Given the description of an element on the screen output the (x, y) to click on. 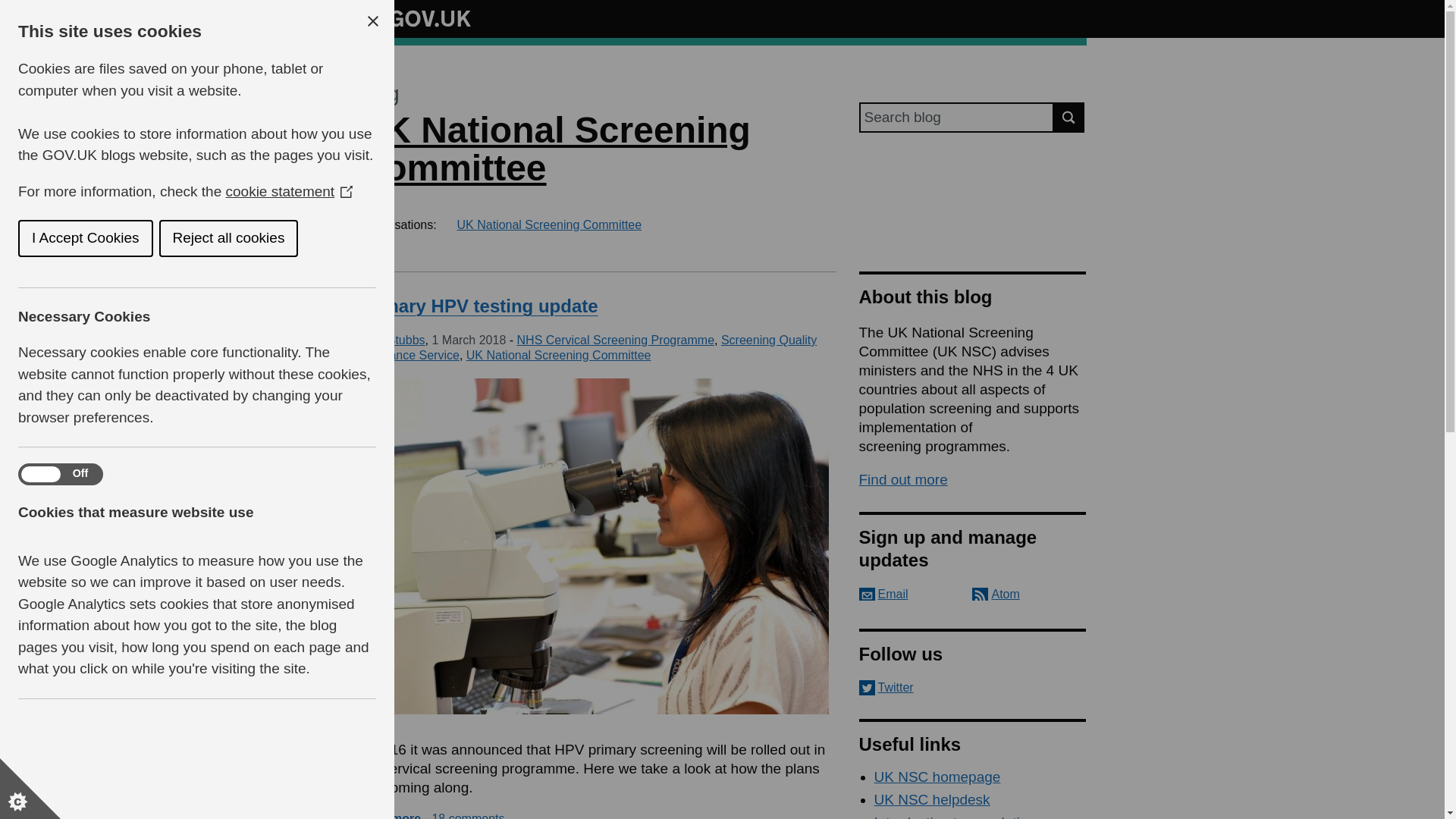
Ruth Stubbs (391, 339)
Posts by Ruth Stubbs (391, 339)
Search (1069, 117)
UK NSC helpdesk (931, 799)
18 comments (466, 815)
UK NSC homepage (936, 776)
Atom (995, 594)
Twitter (972, 687)
UK National Screening Committee (549, 224)
Reject all cookies (165, 238)
I Accept Cookies (29, 238)
Go to the GOV.UK homepage (414, 18)
GOV.UK (414, 15)
Email (883, 594)
Screening Quality Assurance Service (587, 347)
